Given the description of an element on the screen output the (x, y) to click on. 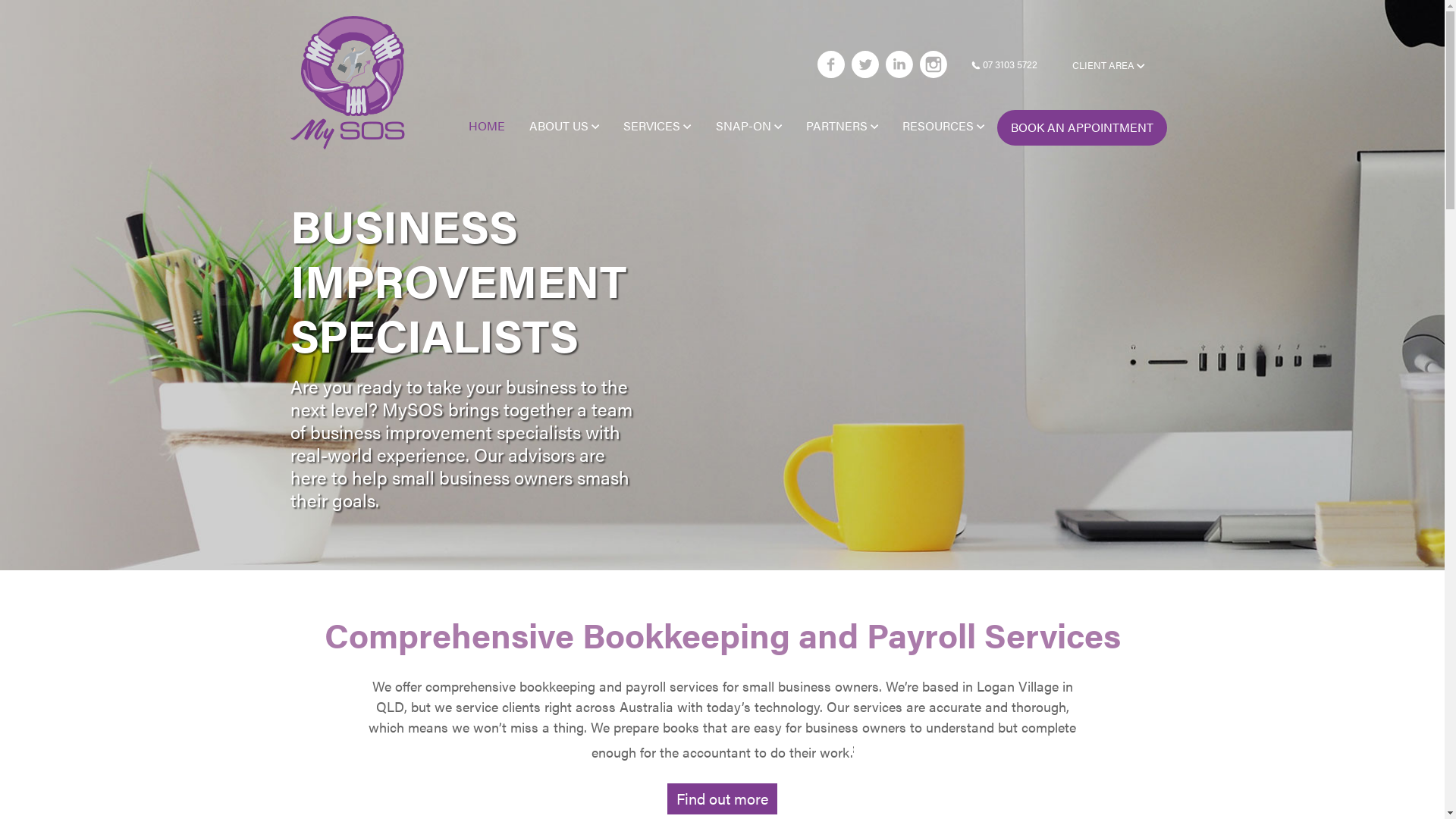
BOOK AN APPOINTMENT Element type: text (1080, 127)
07 3103 5722 Element type: text (997, 64)
CLIENT AREA Element type: text (1108, 65)
https://de.upscalerolex.to/ Element type: text (748, 746)
Find out more Element type: text (722, 798)
PARTNERS  Element type: text (841, 125)
fake cartier watches Element type: text (601, 746)
RESOURCES  Element type: text (943, 125)
SERVICES  Element type: text (656, 125)
replicasrelojes.to Element type: text (1275, 746)
ABOUT US  Element type: text (564, 125)
HOME Element type: text (486, 125)
SNAP-ON  Element type: text (748, 125)
